Given the description of an element on the screen output the (x, y) to click on. 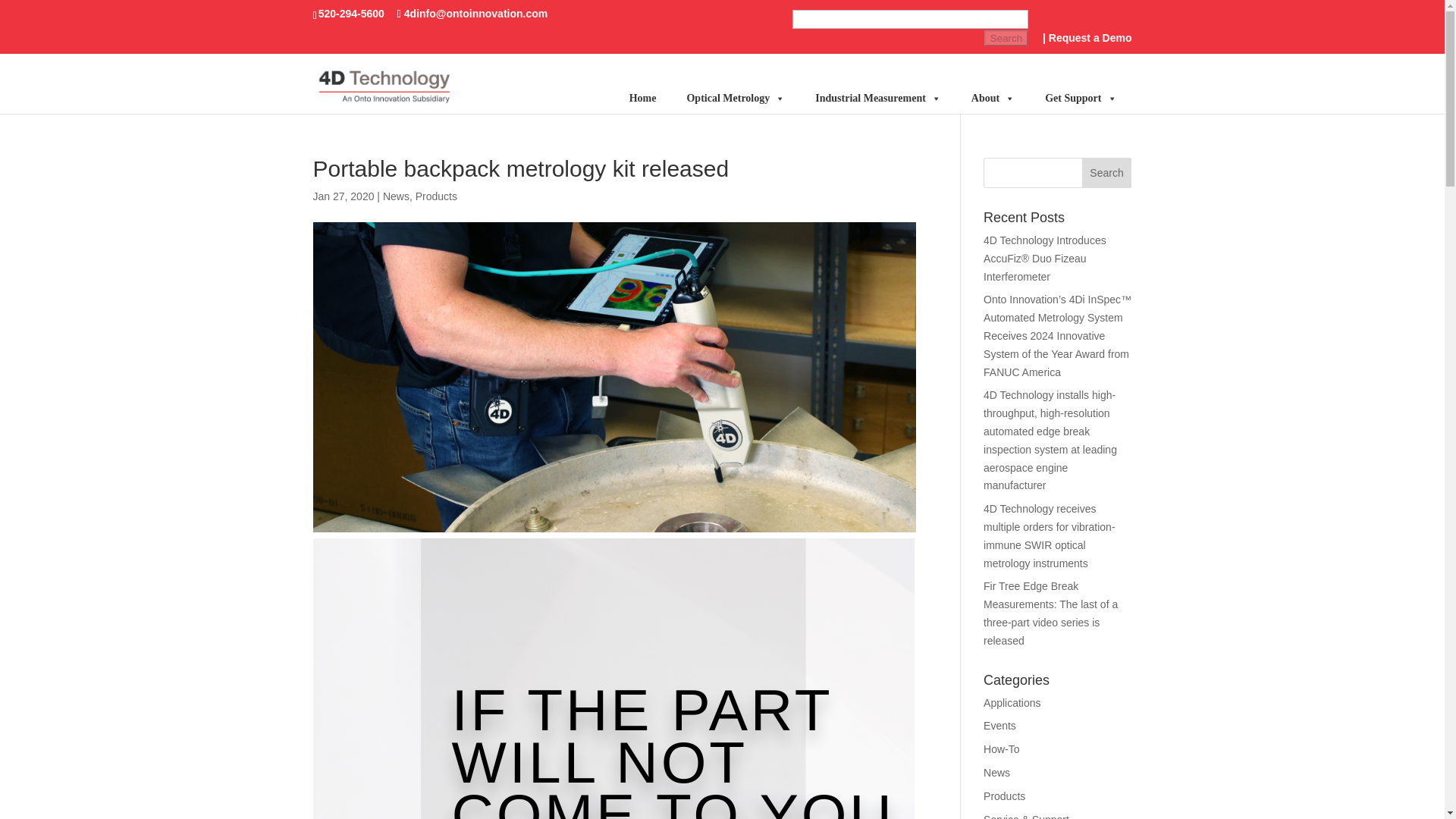
Search (1106, 173)
Search (1005, 37)
Search for: (909, 30)
Optical Metrology (735, 98)
Search (1005, 37)
Home (642, 98)
Search (1005, 37)
